Given the description of an element on the screen output the (x, y) to click on. 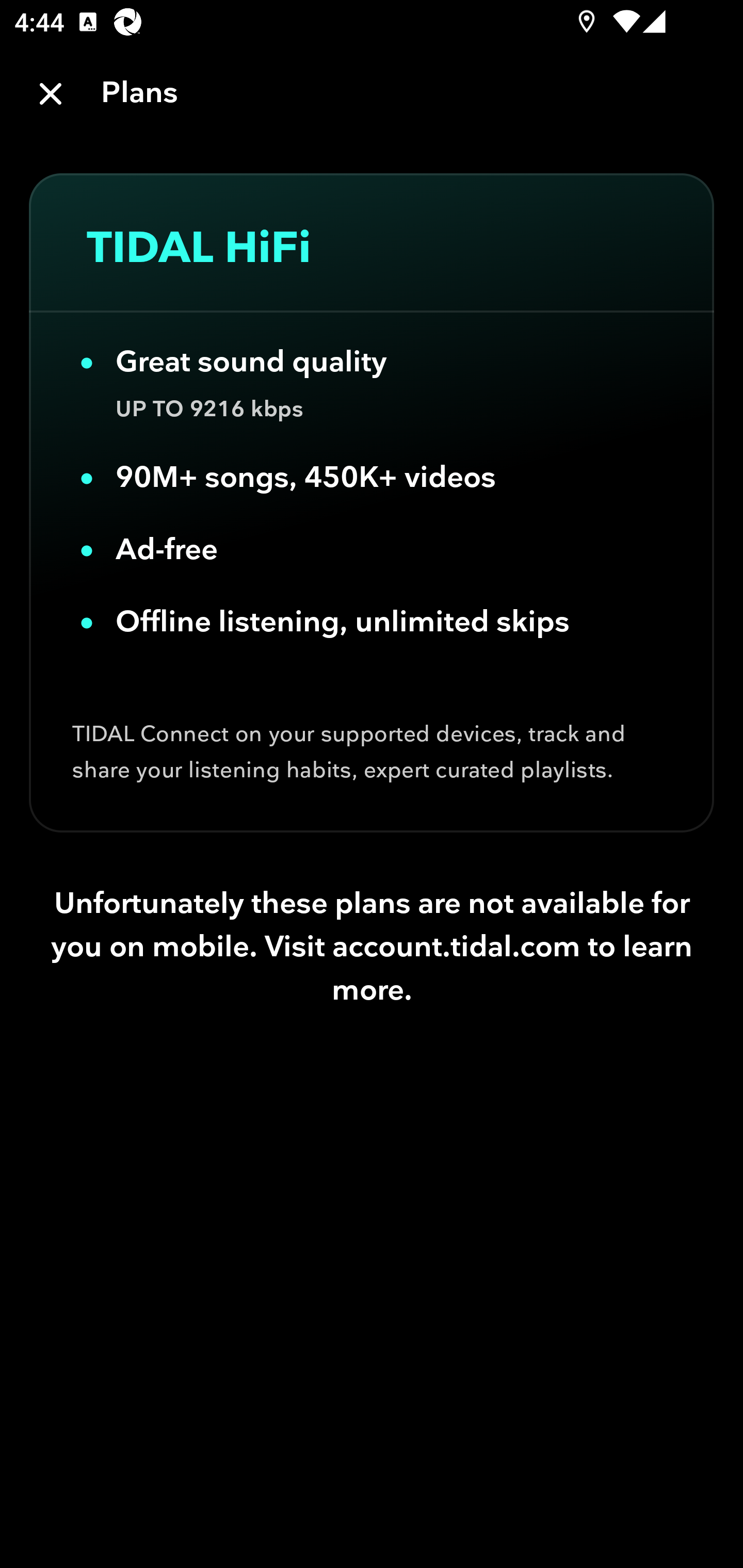
Close (50, 93)
